Given the description of an element on the screen output the (x, y) to click on. 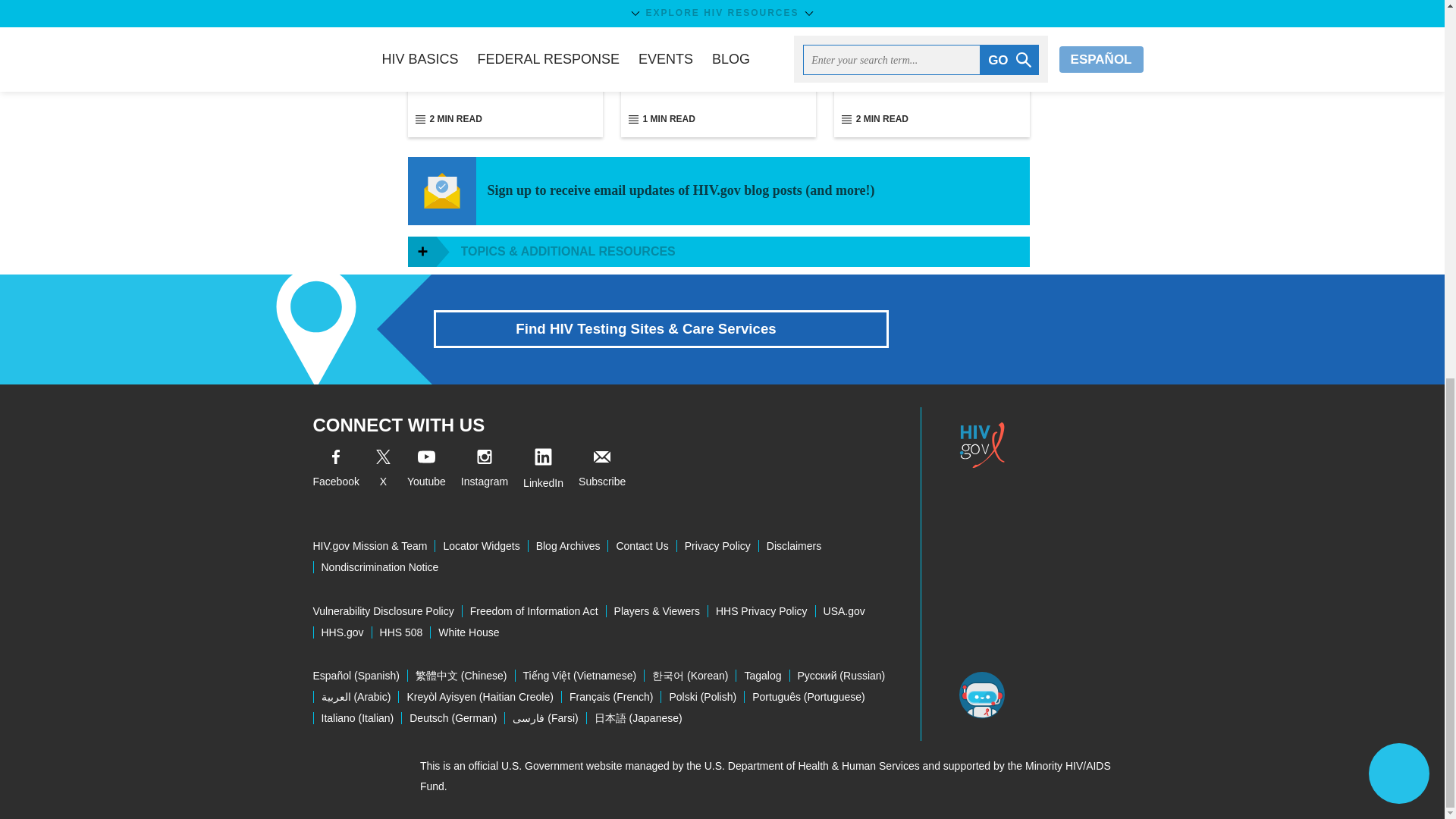
Visit HIV.gov on Instagram (484, 470)
Visit HIV.gov on Facebook (335, 470)
Visit to subscribe to HIV.gov email updates (602, 470)
